Given the description of an element on the screen output the (x, y) to click on. 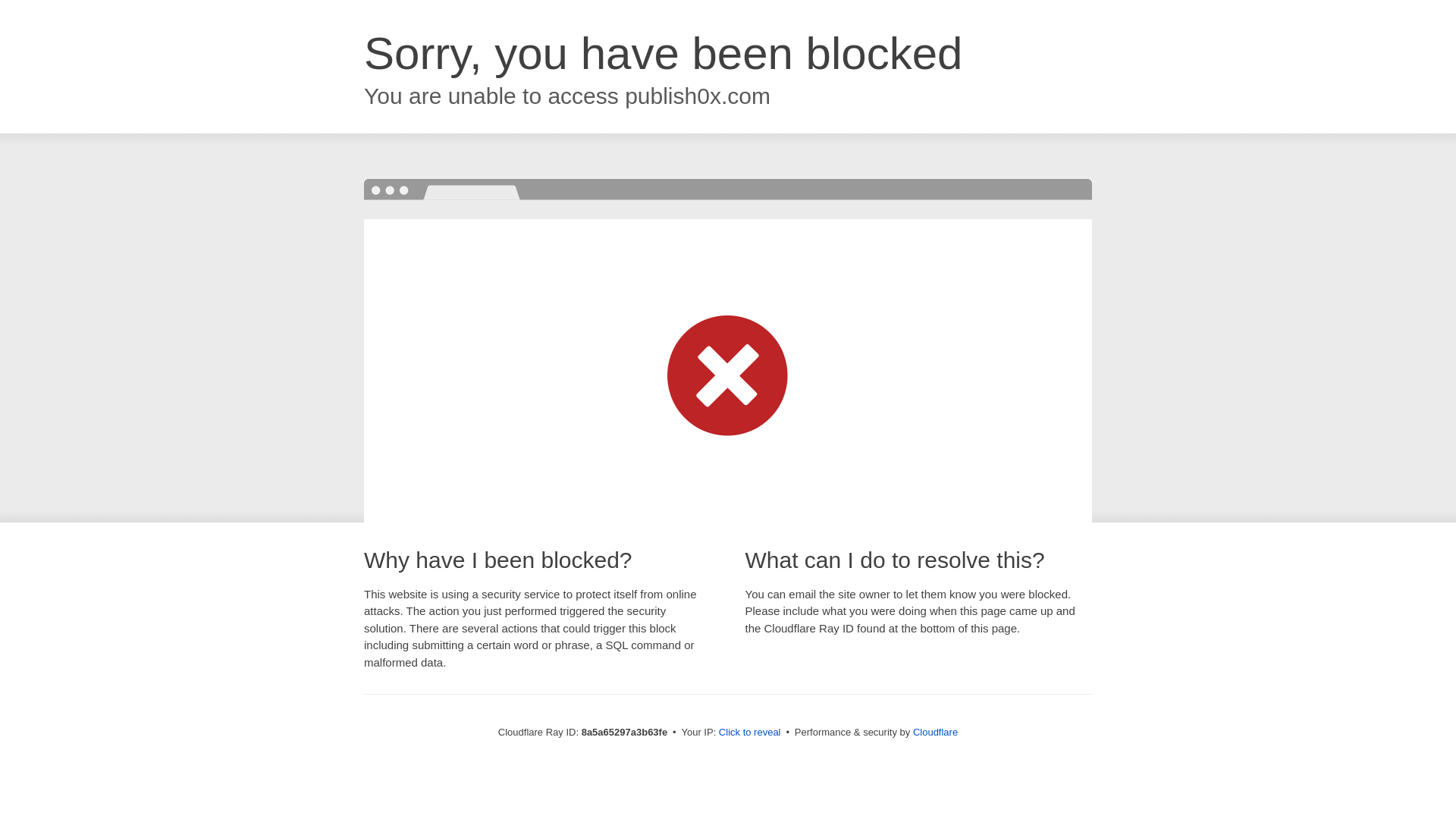
Cloudflare (935, 731)
Click to reveal (749, 732)
